Given the description of an element on the screen output the (x, y) to click on. 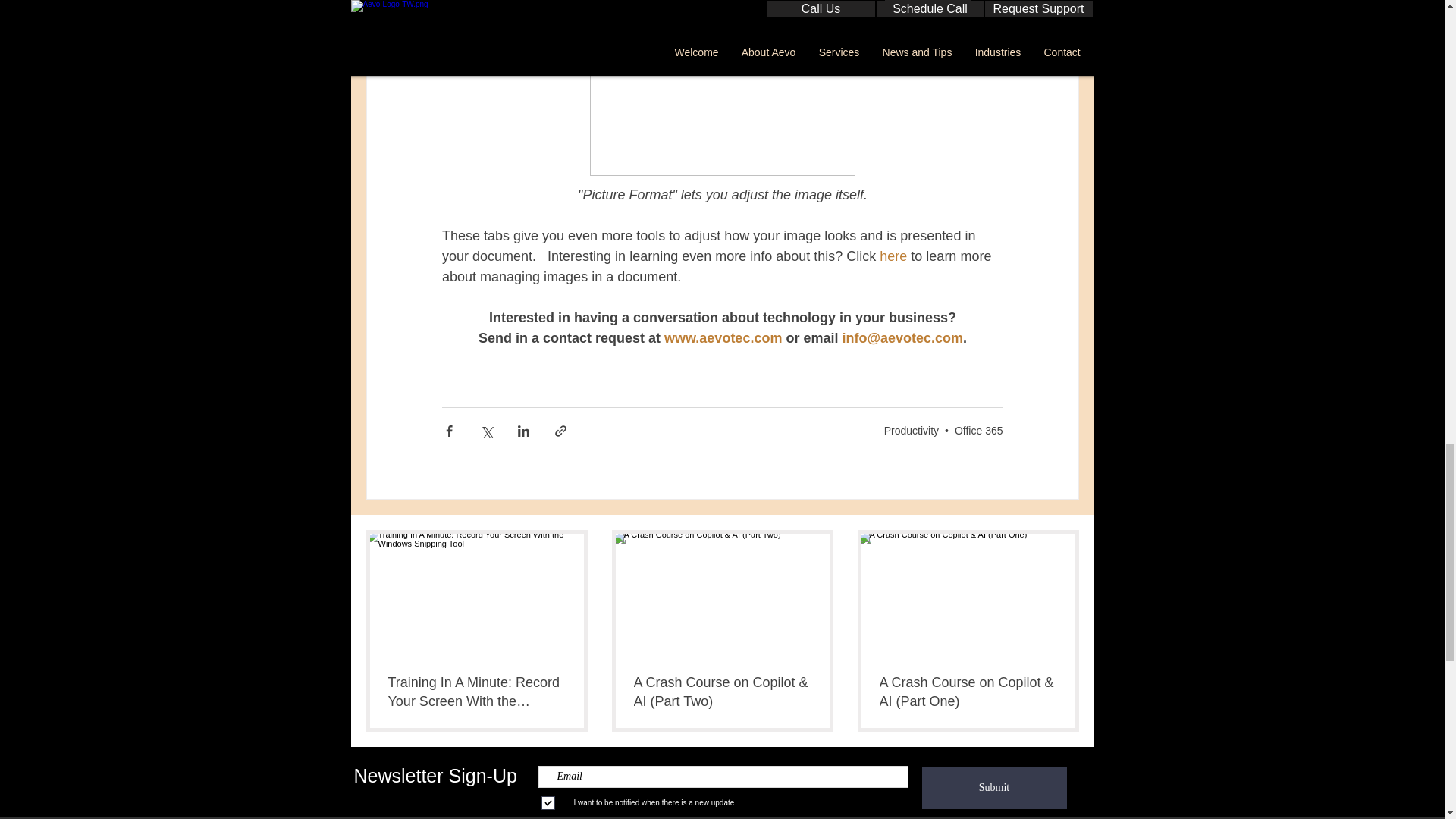
Productivity (911, 430)
here (893, 255)
Office 365 (979, 430)
Submit (994, 787)
www.aevotec.com (722, 337)
